Given the description of an element on the screen output the (x, y) to click on. 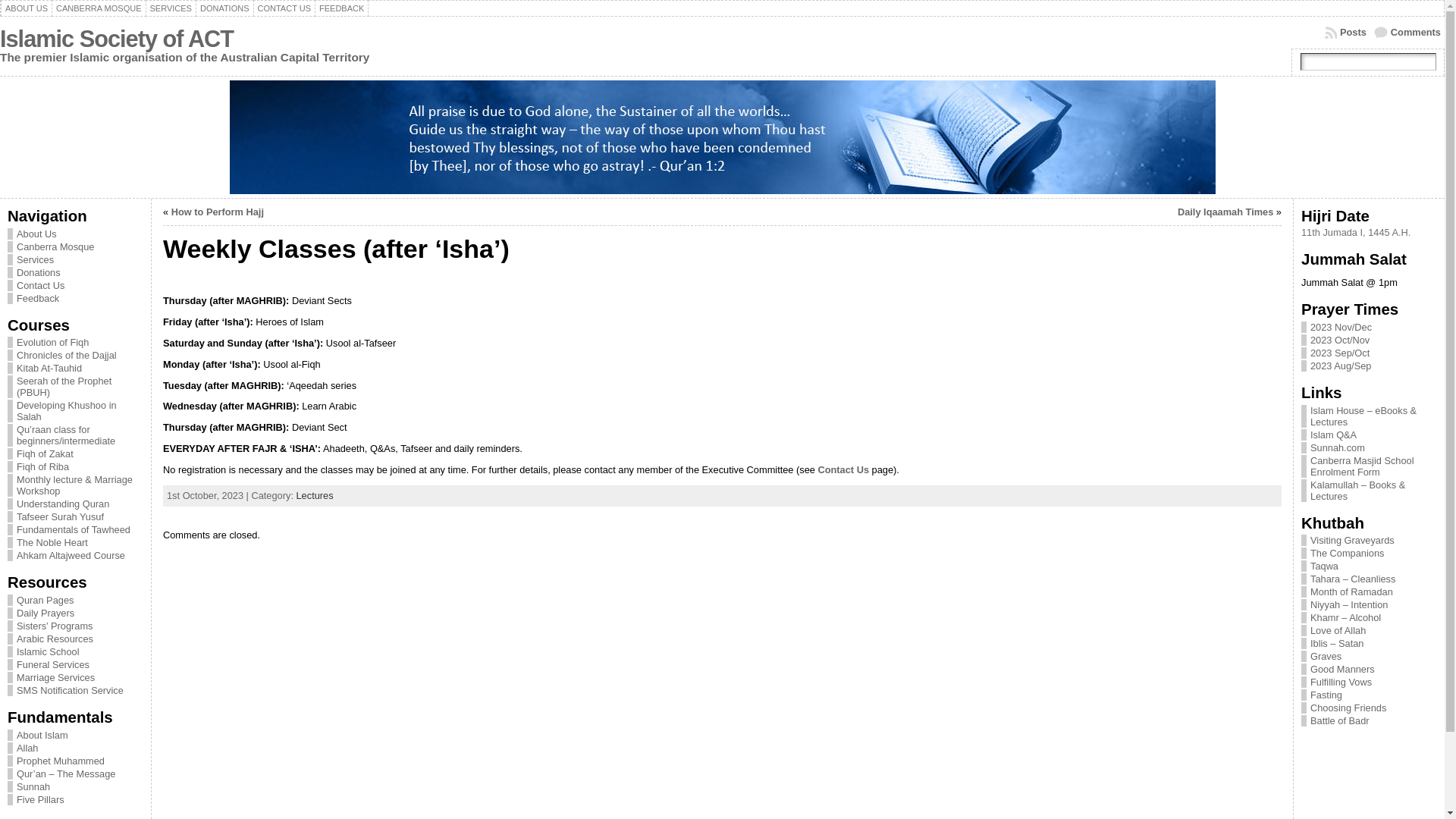
Love of Allah Element type: text (1337, 630)
Posts Element type: text (1345, 32)
Comments Element type: text (1407, 32)
Month of Ramadan Element type: text (1351, 591)
SERVICES Element type: text (170, 8)
2023 Sep/Oct Element type: text (1339, 352)
Canberra Mosque Element type: text (75, 246)
FEEDBACK Element type: text (341, 8)
Tafseer Surah Yusuf Element type: text (75, 516)
Choosing Friends Element type: text (1348, 707)
Ahkam Altajweed Course Element type: text (75, 555)
Allah Element type: text (75, 747)
Contact Us Element type: text (843, 469)
Lectures Element type: text (313, 495)
SMS Notification Service Element type: text (75, 690)
Battle of Badr Element type: text (1339, 720)
Taqwa Element type: text (1324, 565)
DONATIONS Element type: text (224, 8)
The Companions Element type: text (1346, 552)
2023 Oct/Nov Element type: text (1339, 339)
CONTACT US Element type: text (284, 8)
Fiqh of Riba Element type: text (75, 466)
Islamic School Element type: text (75, 651)
Feedback Element type: text (75, 298)
Arabic Resources Element type: text (75, 638)
ABOUT US Element type: text (26, 8)
Monthly lecture & Marriage Workshop Element type: text (75, 484)
Contact Us Element type: text (75, 285)
Developing Khushoo in Salah Element type: text (75, 410)
Islam Q&A Element type: text (1333, 434)
Services Element type: text (75, 259)
How to Perform Hajj Element type: text (217, 211)
Prophet Muhammed Element type: text (75, 760)
The Noble Heart Element type: text (75, 542)
2023 Nov/Dec Element type: text (1340, 326)
Sunnah Element type: text (75, 786)
Five Pillars Element type: text (75, 798)
About Islam Element type: text (75, 734)
Quran Pages Element type: text (75, 599)
Sunnah.com Element type: text (1337, 446)
Islamic Society of ACT Element type: text (116, 38)
Understanding Quran Element type: text (75, 503)
Visiting Graveyards Element type: text (1352, 540)
Kitab At-Tauhid Element type: text (75, 367)
Graves Element type: text (1325, 656)
Fasting Element type: text (1326, 694)
Evolution of Fiqh Element type: text (75, 342)
Daily Prayers Element type: text (75, 612)
Donations Element type: text (75, 272)
CANBERRA MOSQUE Element type: text (98, 8)
About Us Element type: text (75, 233)
Marriage Services Element type: text (75, 677)
Funeral Services Element type: text (75, 664)
Fundamentals of Tawheed Element type: text (75, 529)
Fiqh of Zakat Element type: text (75, 453)
Good Manners Element type: text (1342, 668)
Seerah of the Prophet (PBUH) Element type: text (75, 386)
Chronicles of the Dajjal Element type: text (75, 354)
Daily Iqaamah Times Element type: text (1225, 211)
Fulfilling Vows Element type: text (1340, 681)
2023 Aug/Sep Element type: text (1340, 365)
Canberra Masjid School Enrolment Form Element type: text (1362, 466)
